Given the description of an element on the screen output the (x, y) to click on. 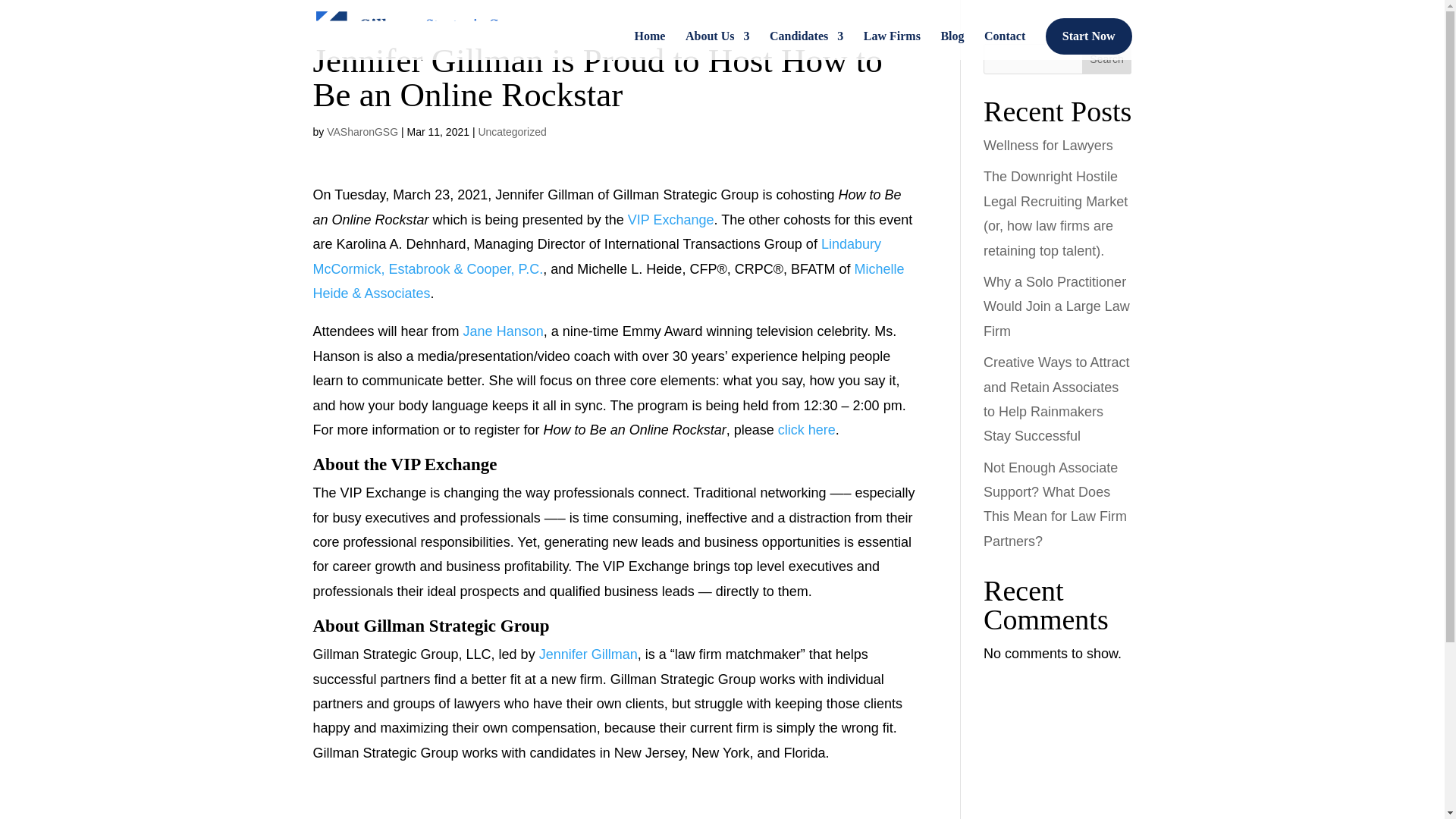
Why a Solo Practitioner Would Join a Large Law Firm (1056, 306)
Law Firms (891, 45)
About Us (717, 45)
Candidates (806, 45)
Contact (1004, 45)
VASharonGSG (361, 132)
Start Now (1088, 36)
Jennifer Gillman (587, 654)
